Given the description of an element on the screen output the (x, y) to click on. 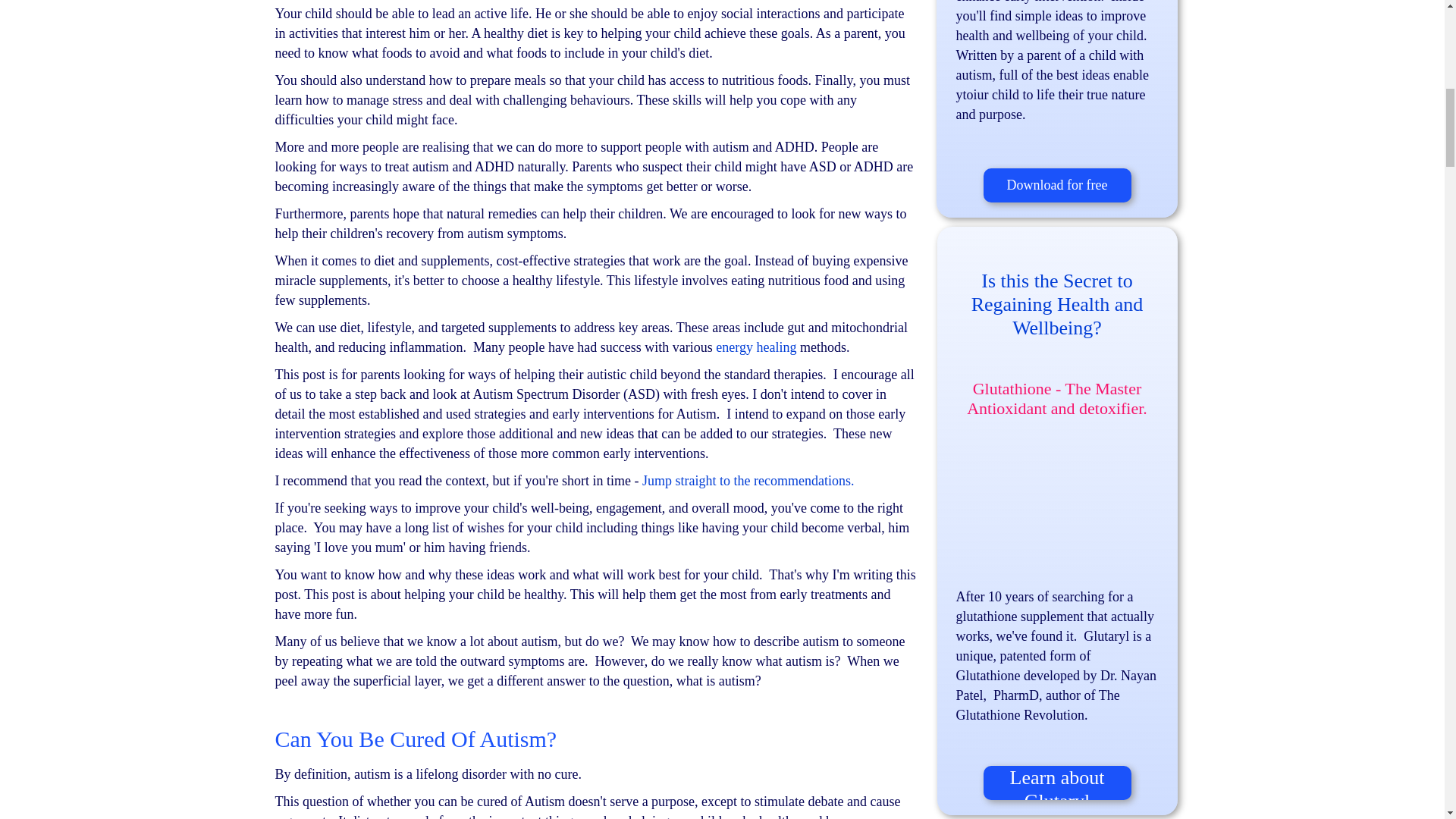
Jump straight to the recommendations.   (751, 480)
energy healing (756, 346)
Learn about Glutaryl (1056, 782)
Is this the Secret to Regaining Health and Wellbeing? (1056, 304)
Download for free (1056, 185)
Glutathione - The Master Antioxidant and detoxifier. (1056, 398)
